Given the description of an element on the screen output the (x, y) to click on. 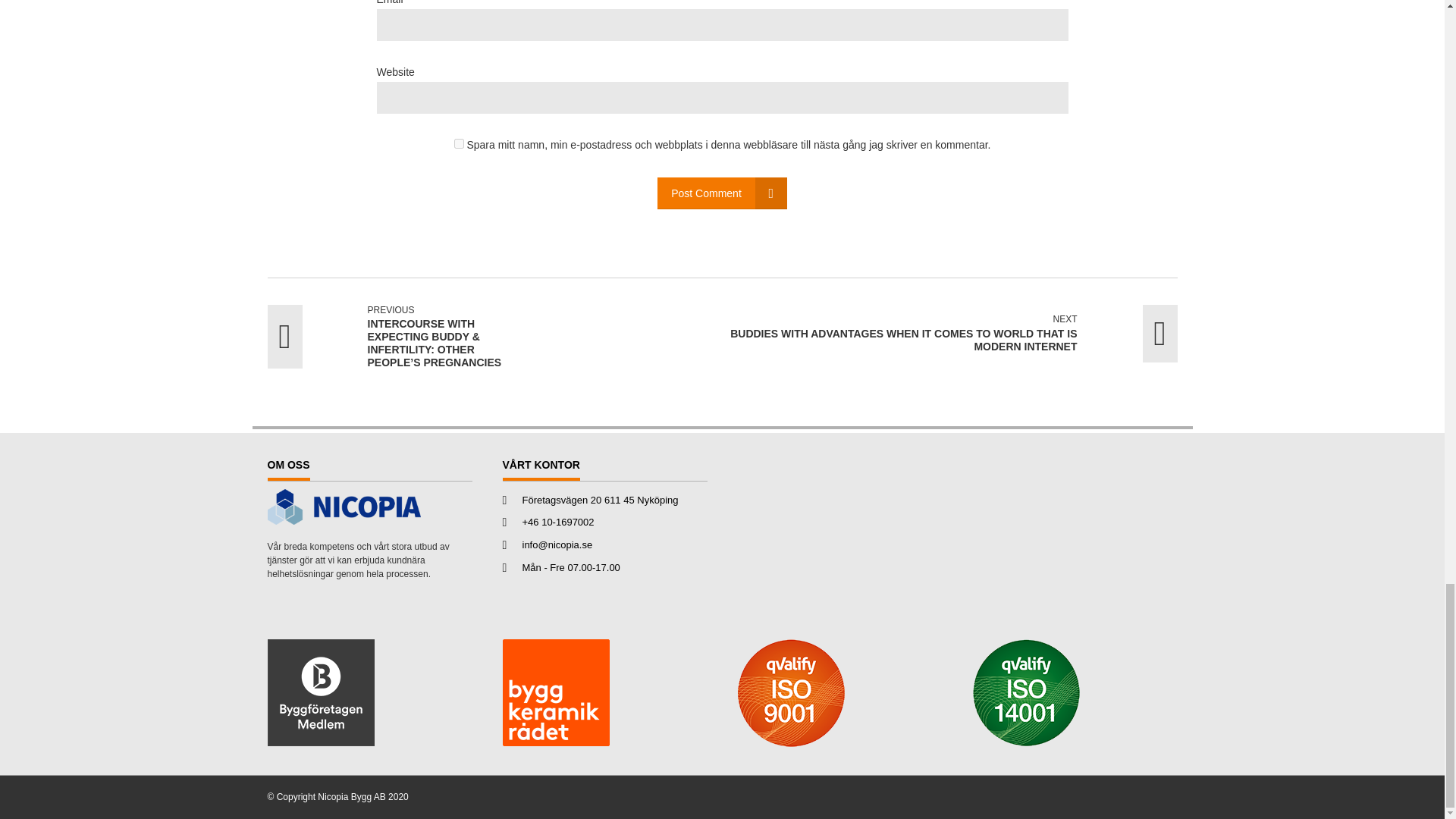
Post Comment (722, 193)
yes (459, 143)
